Given the description of an element on the screen output the (x, y) to click on. 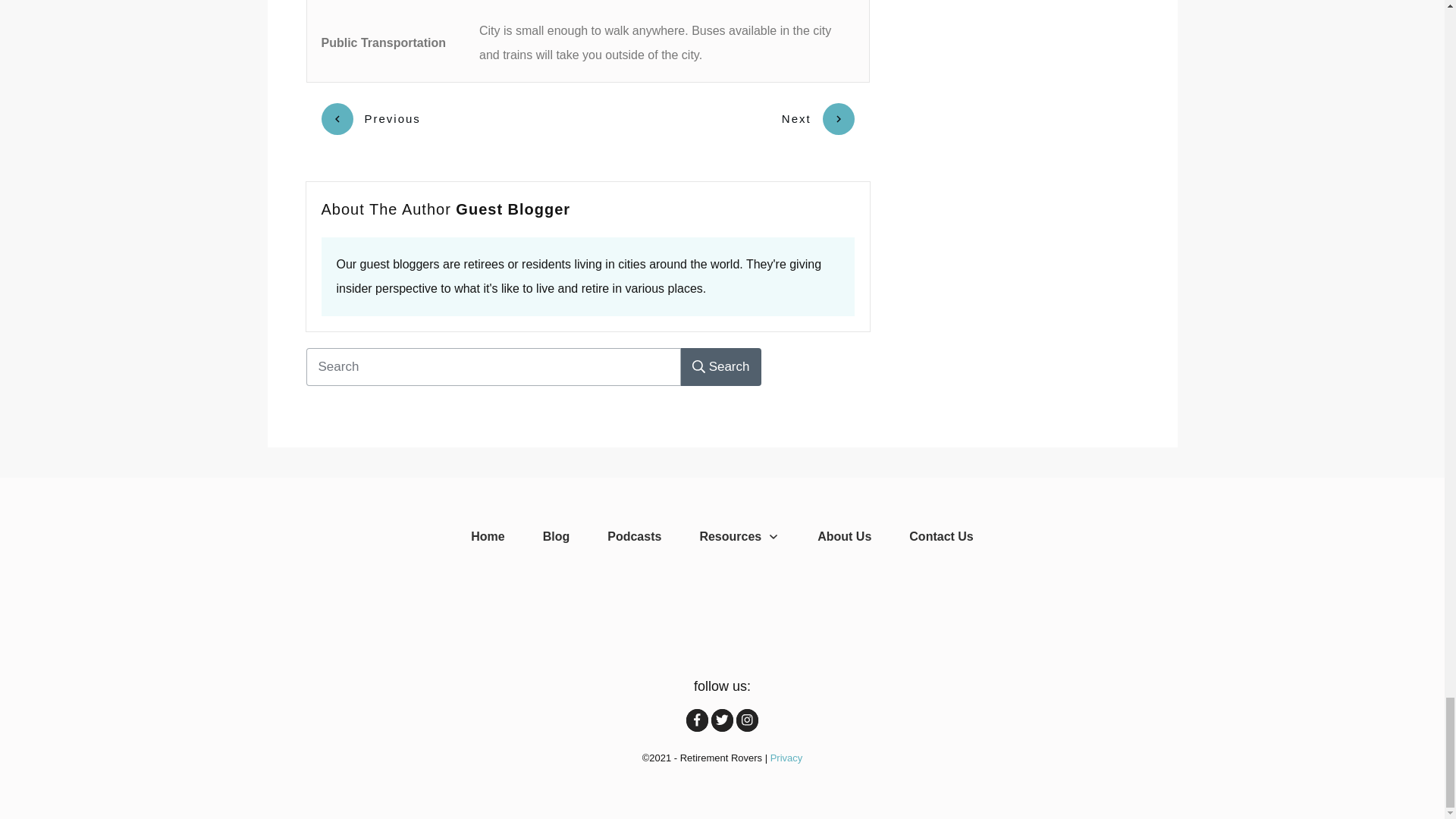
Guest Blogger (512, 208)
Home (486, 536)
Previous (370, 119)
Guest Blogger (512, 208)
Search (721, 366)
Next (817, 119)
Blog (556, 536)
Podcasts (634, 536)
